Given the description of an element on the screen output the (x, y) to click on. 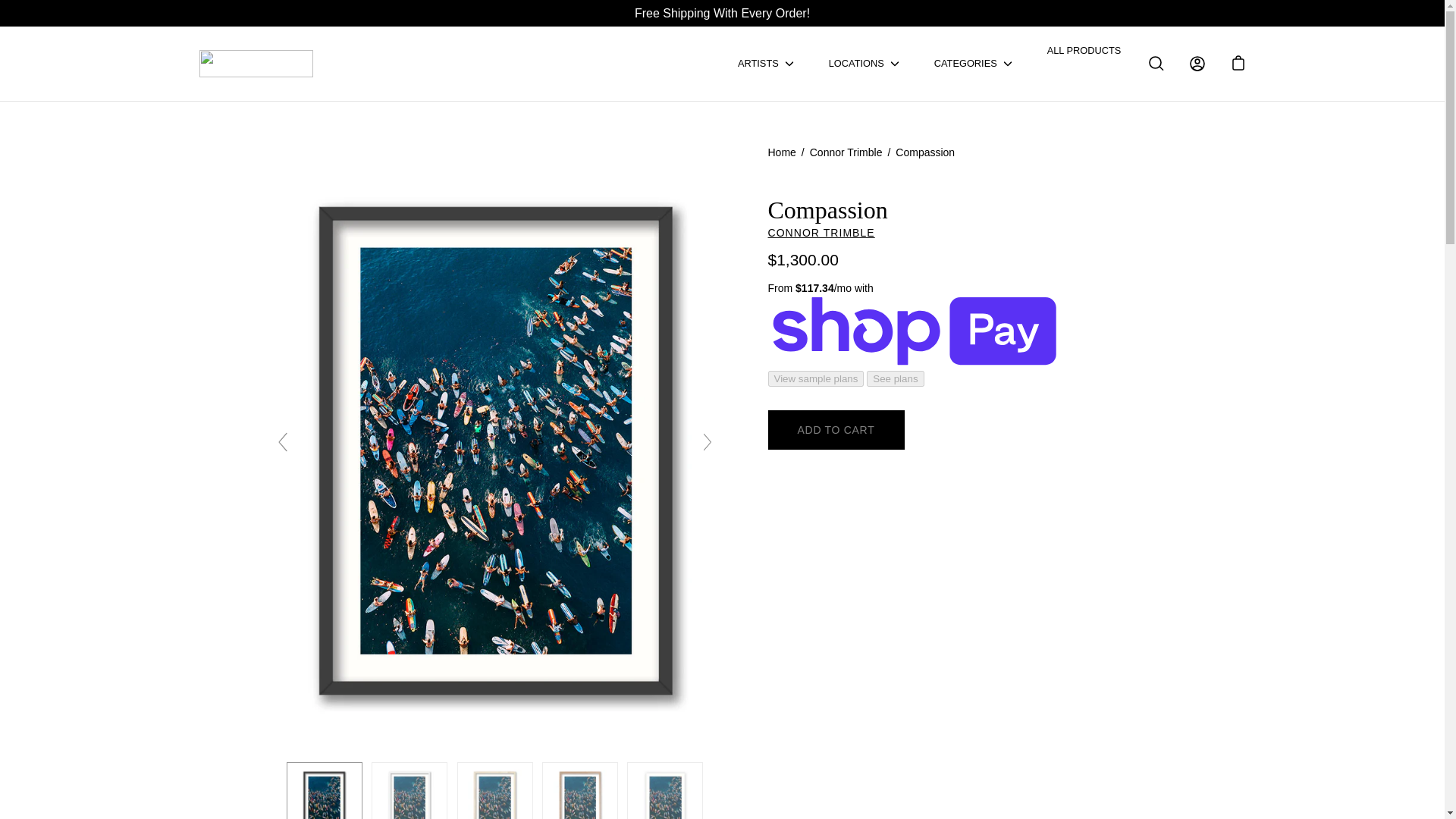
Go back to Home page (783, 152)
Compassion (665, 790)
Compassion (324, 790)
Compassion (494, 790)
Compassion (408, 790)
Compassion (579, 790)
Compassion (494, 448)
